Given the description of an element on the screen output the (x, y) to click on. 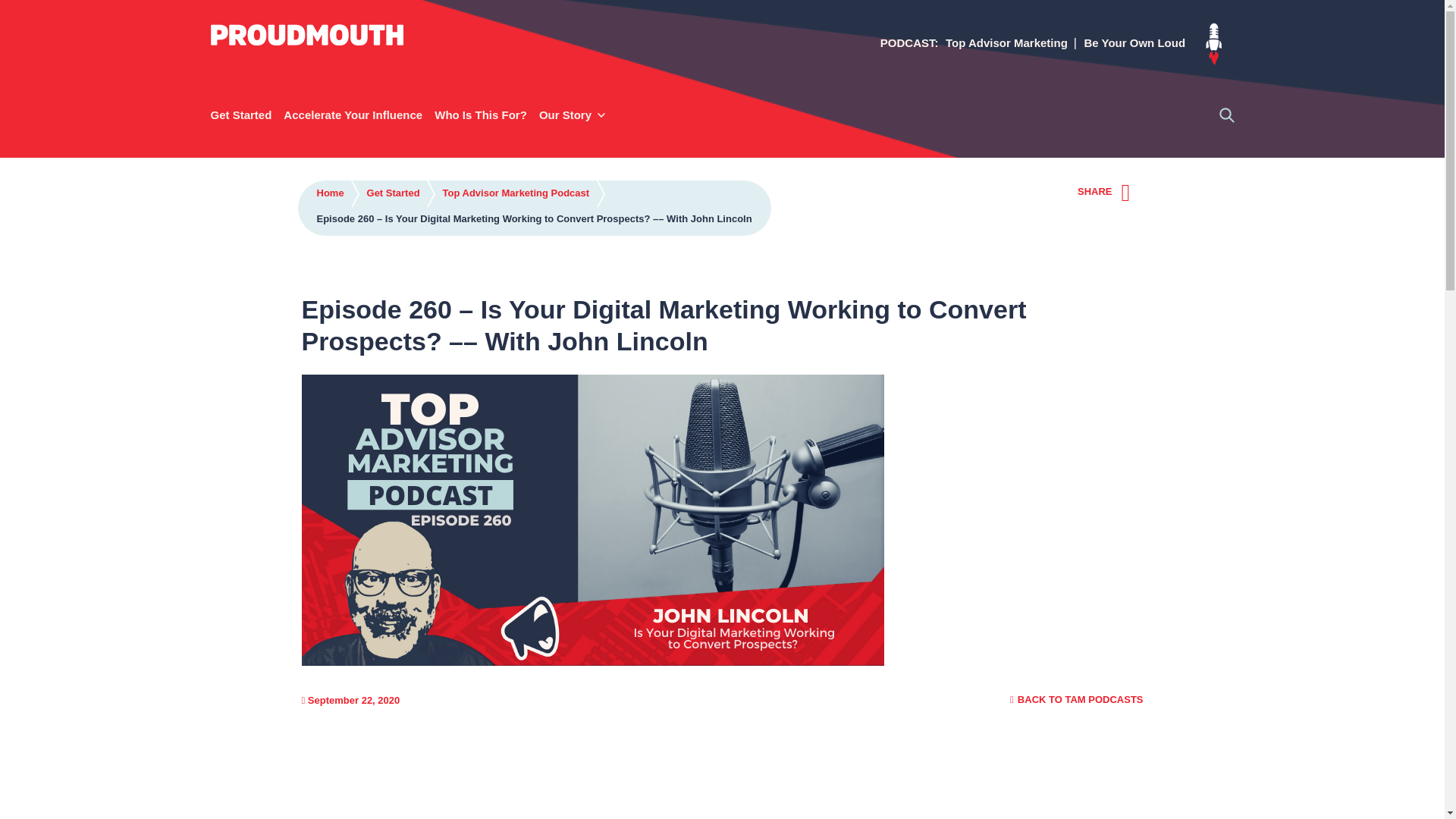
Be Your Own Loud (1134, 46)
Share (1133, 192)
Top Advisor Marketing Podcast (515, 192)
Our Story (568, 114)
PODCAST: (909, 46)
Accelerate Your Influence (353, 114)
Academy Login (1213, 46)
Top Advisor Marketing (1005, 46)
Blubrry Podcast Player (721, 776)
Get Started (241, 114)
Get Started (393, 192)
Who Is This For? (480, 114)
Home (330, 192)
BACK TO TAM PODCASTS (1076, 699)
